Given the description of an element on the screen output the (x, y) to click on. 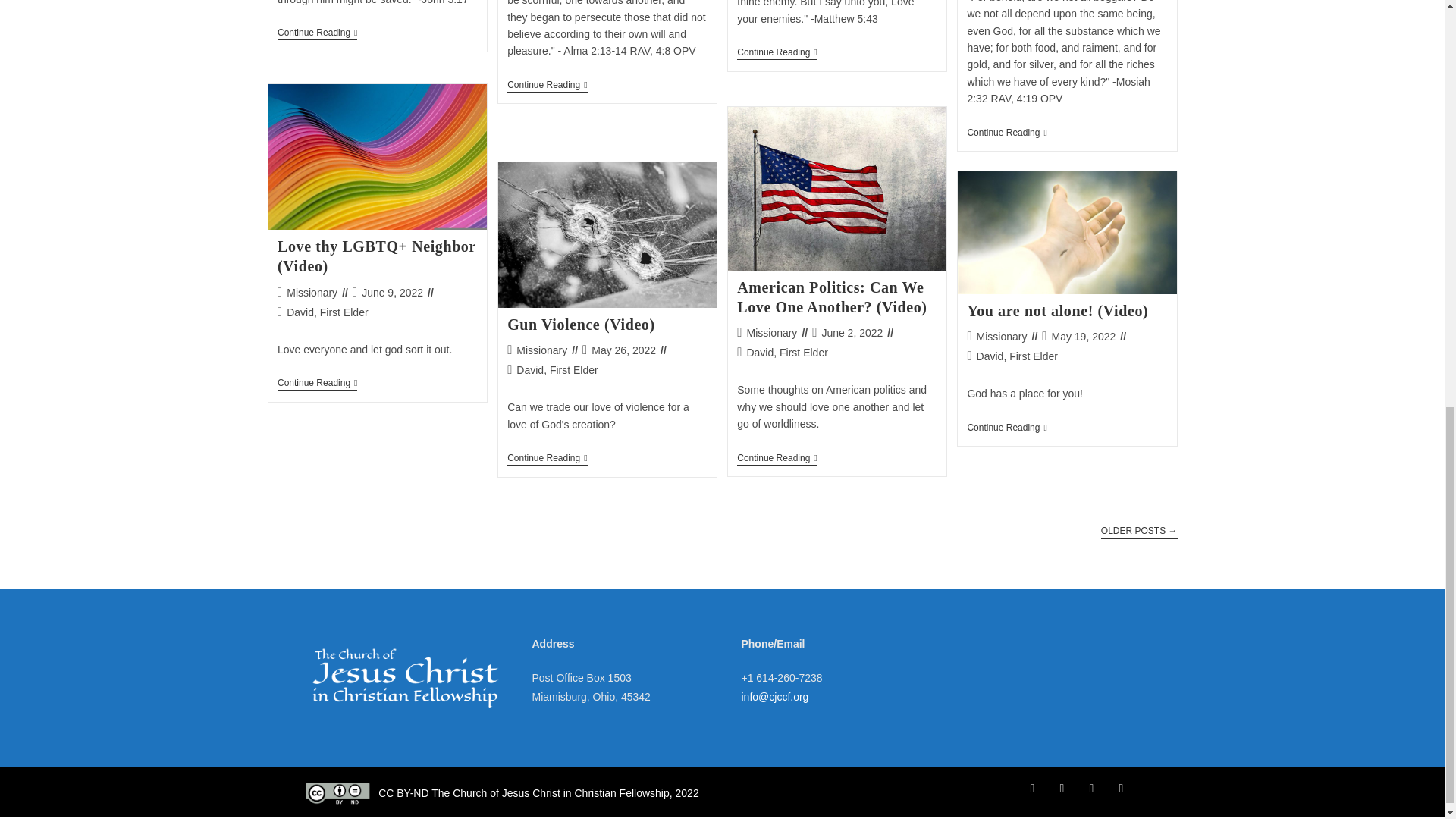
Posts by David, First Elder (1017, 356)
Posts by David, First Elder (556, 369)
Posts by David, First Elder (327, 312)
Posts by David, First Elder (786, 352)
